Given the description of an element on the screen output the (x, y) to click on. 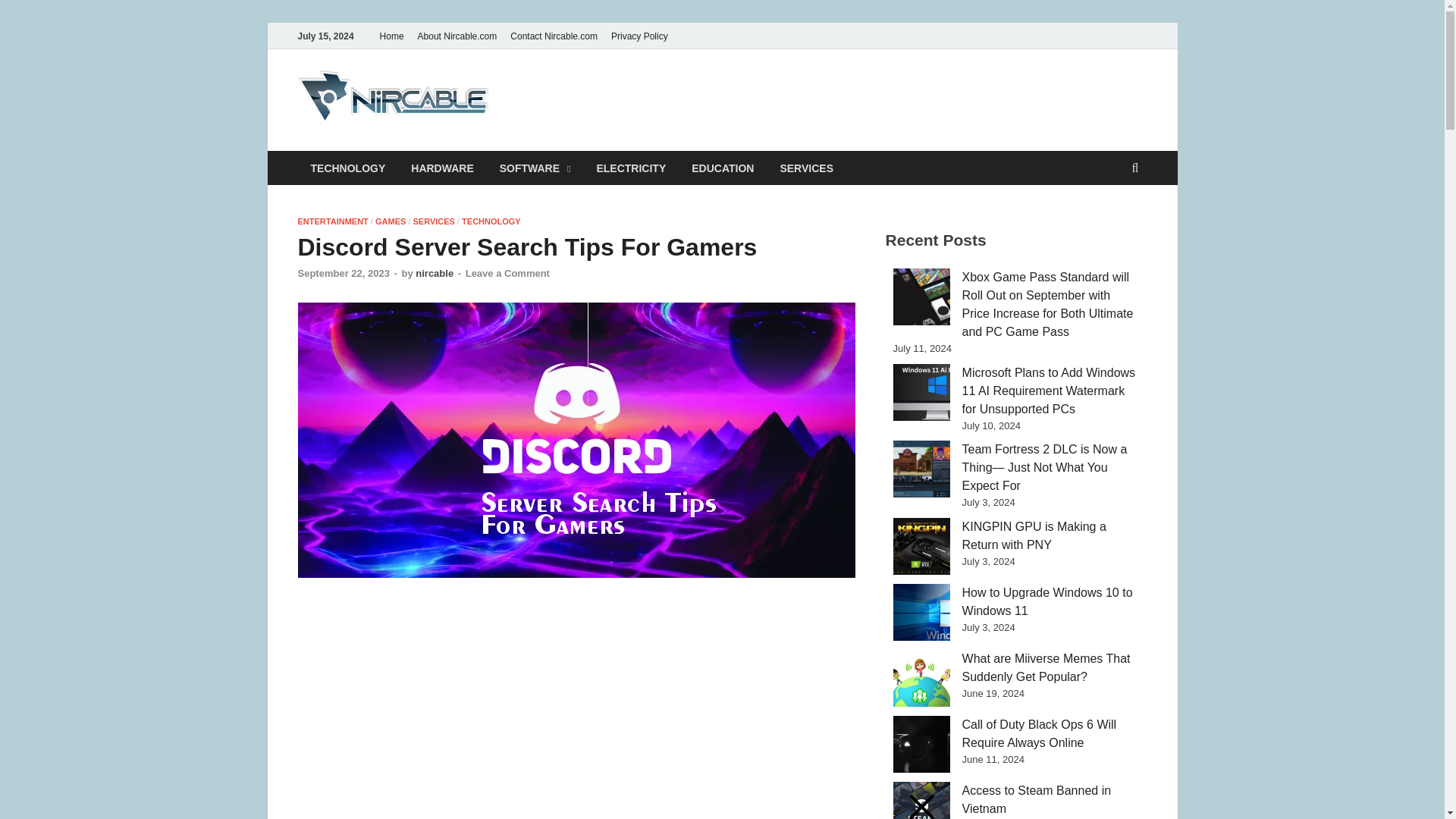
nircable (433, 273)
SOFTWARE (534, 167)
Home (391, 35)
Nircable (554, 100)
TECHNOLOGY (347, 167)
Contact Nircable.com (553, 35)
About Nircable.com (456, 35)
TECHNOLOGY (491, 221)
Advertisement (576, 707)
GAMES (390, 221)
SERVICES (806, 167)
ELECTRICITY (630, 167)
EDUCATION (722, 167)
SERVICES (433, 221)
Leave a Comment (507, 273)
